Given the description of an element on the screen output the (x, y) to click on. 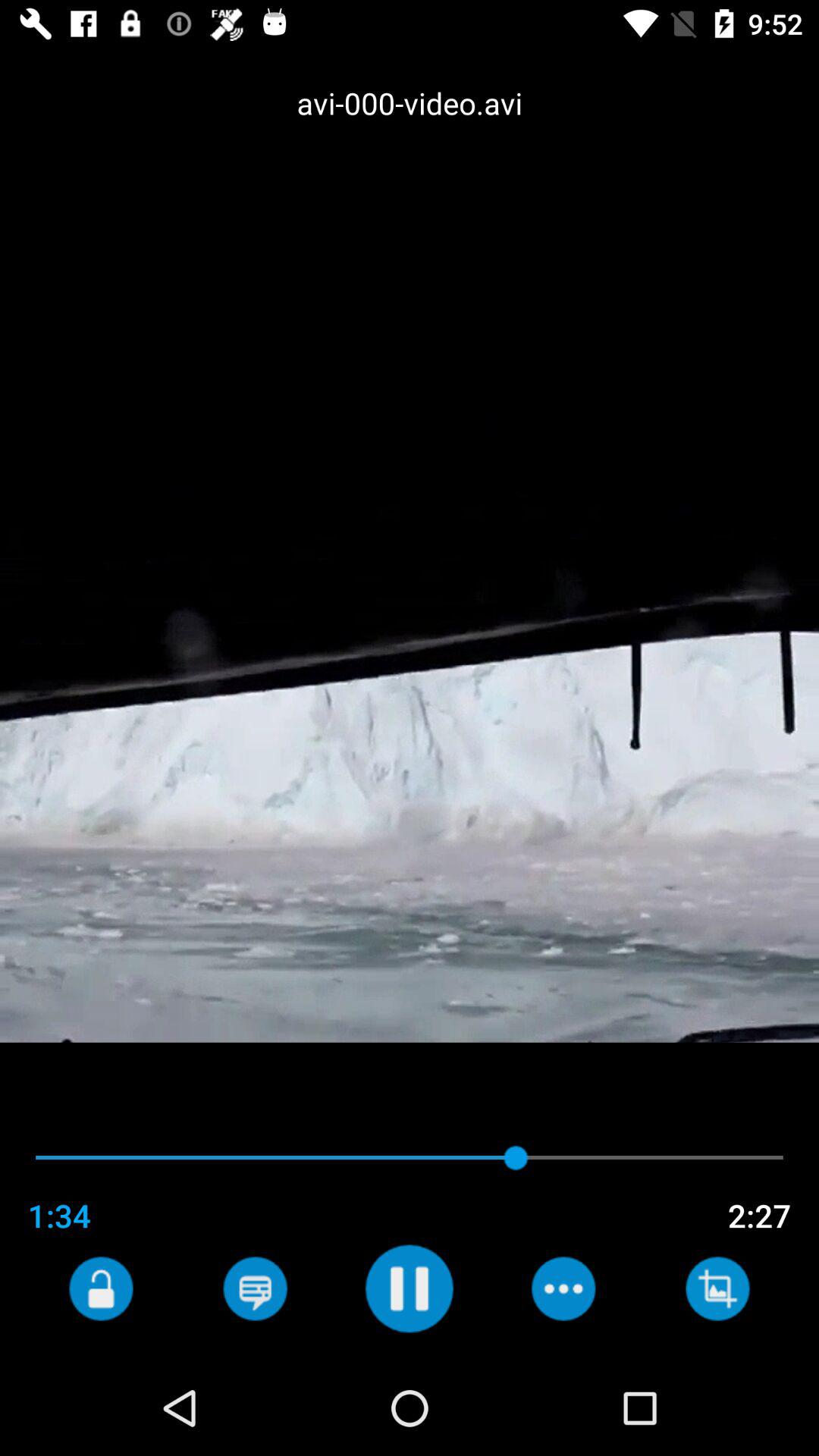
crop the image (717, 1288)
